Given the description of an element on the screen output the (x, y) to click on. 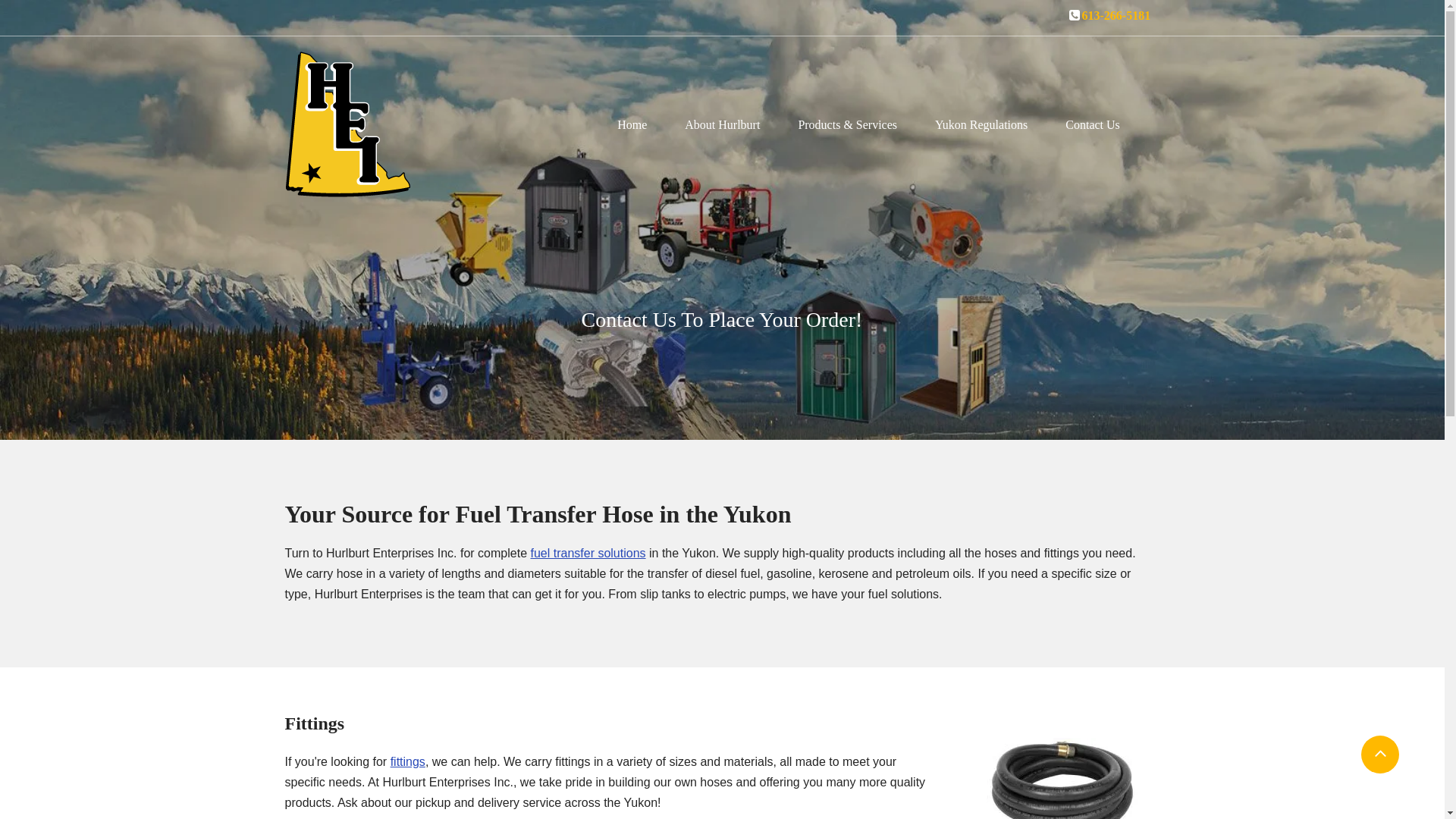
613-266-5181 (1115, 17)
Home (631, 123)
About Hurlburt (722, 123)
